Given the description of an element on the screen output the (x, y) to click on. 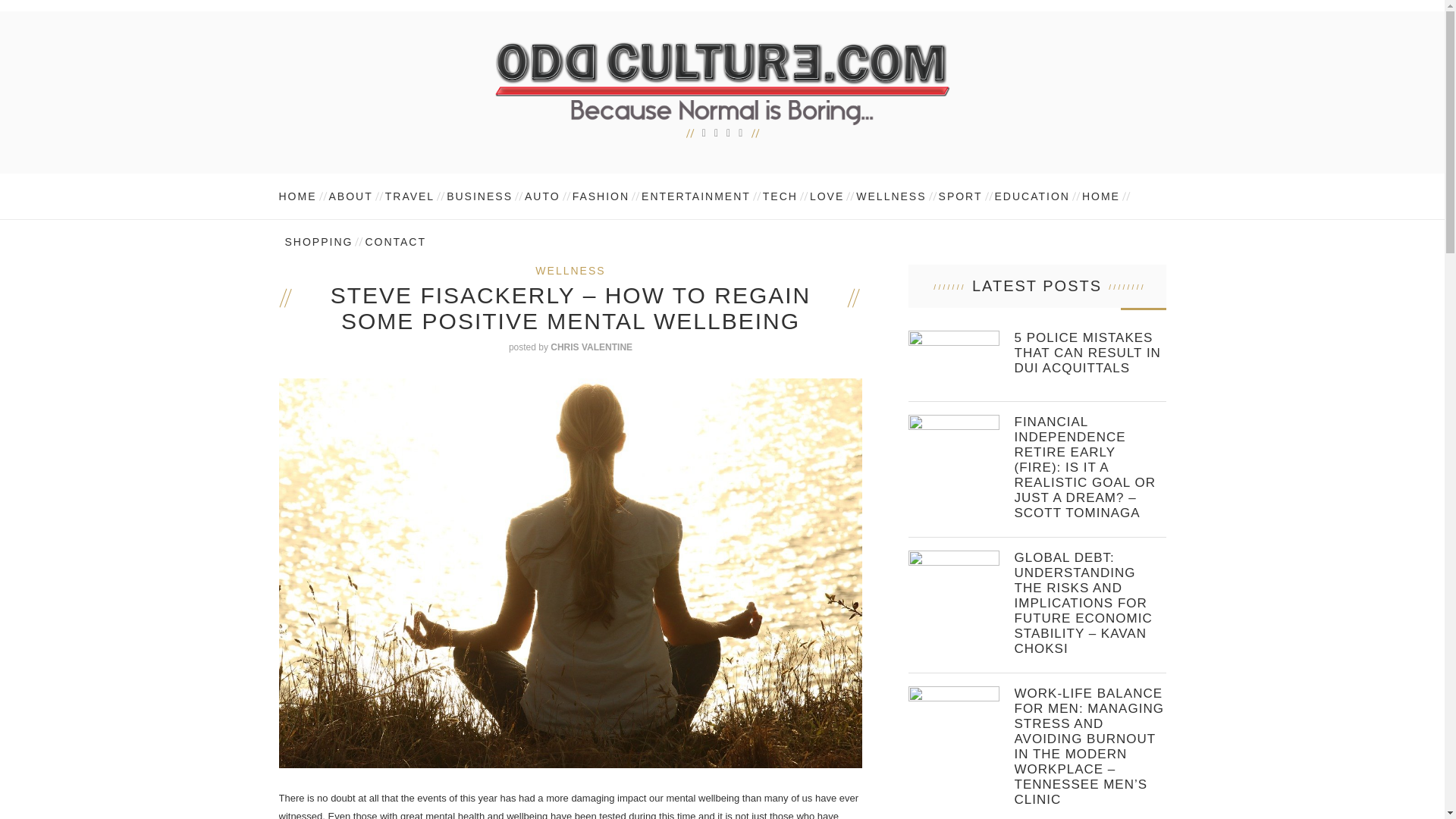
ABOUT (350, 196)
BUSINESS (479, 196)
TRAVEL (409, 196)
HOME (301, 196)
LOVE (826, 196)
HOME (1100, 196)
FASHION (600, 196)
AUTO (542, 196)
SPORT (960, 196)
5 Police Mistakes That Can Result in DUI Acquittals (1090, 352)
